Given the description of an element on the screen output the (x, y) to click on. 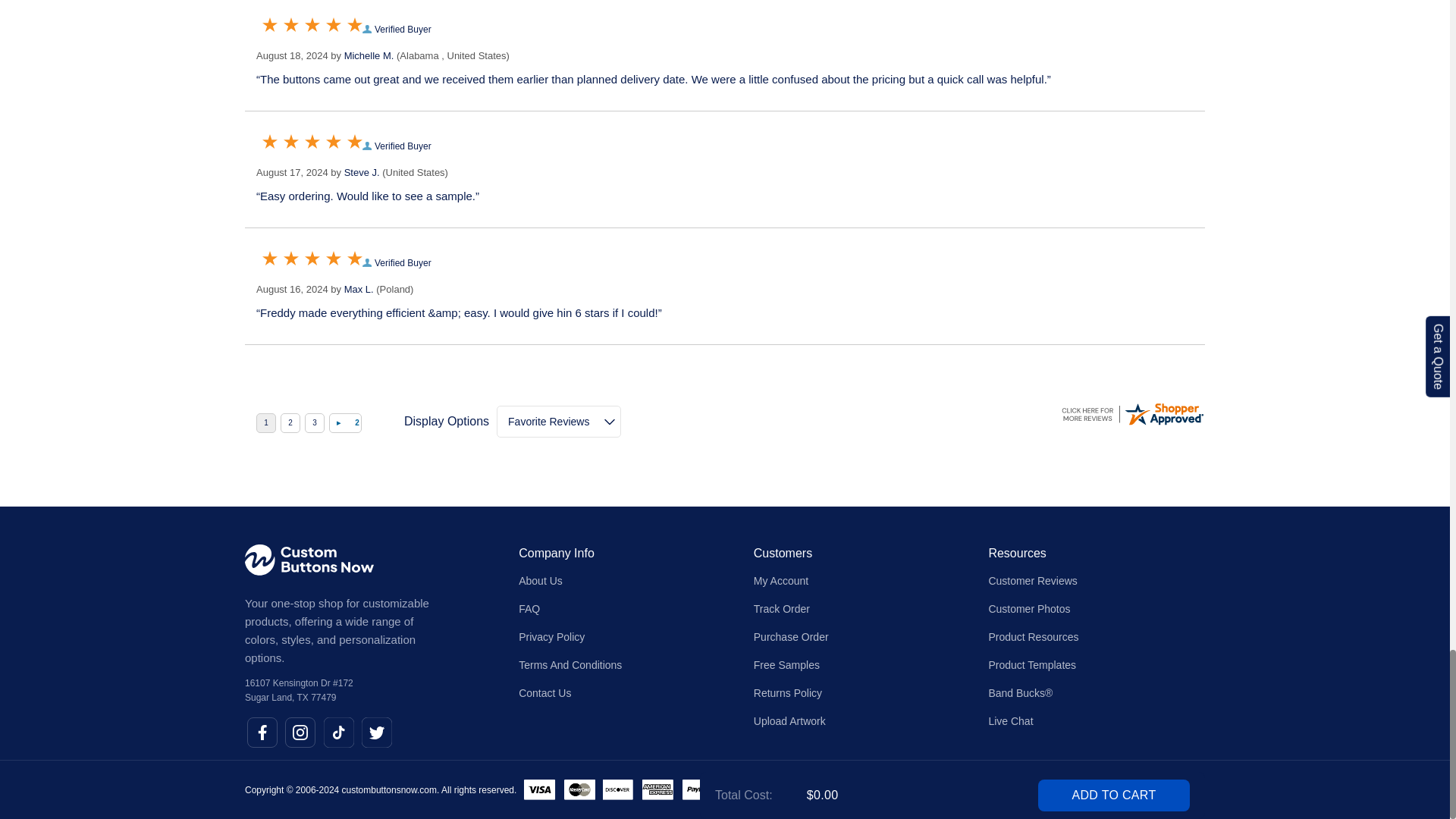
1 (266, 423)
2 (290, 423)
3 (314, 423)
